Given the description of an element on the screen output the (x, y) to click on. 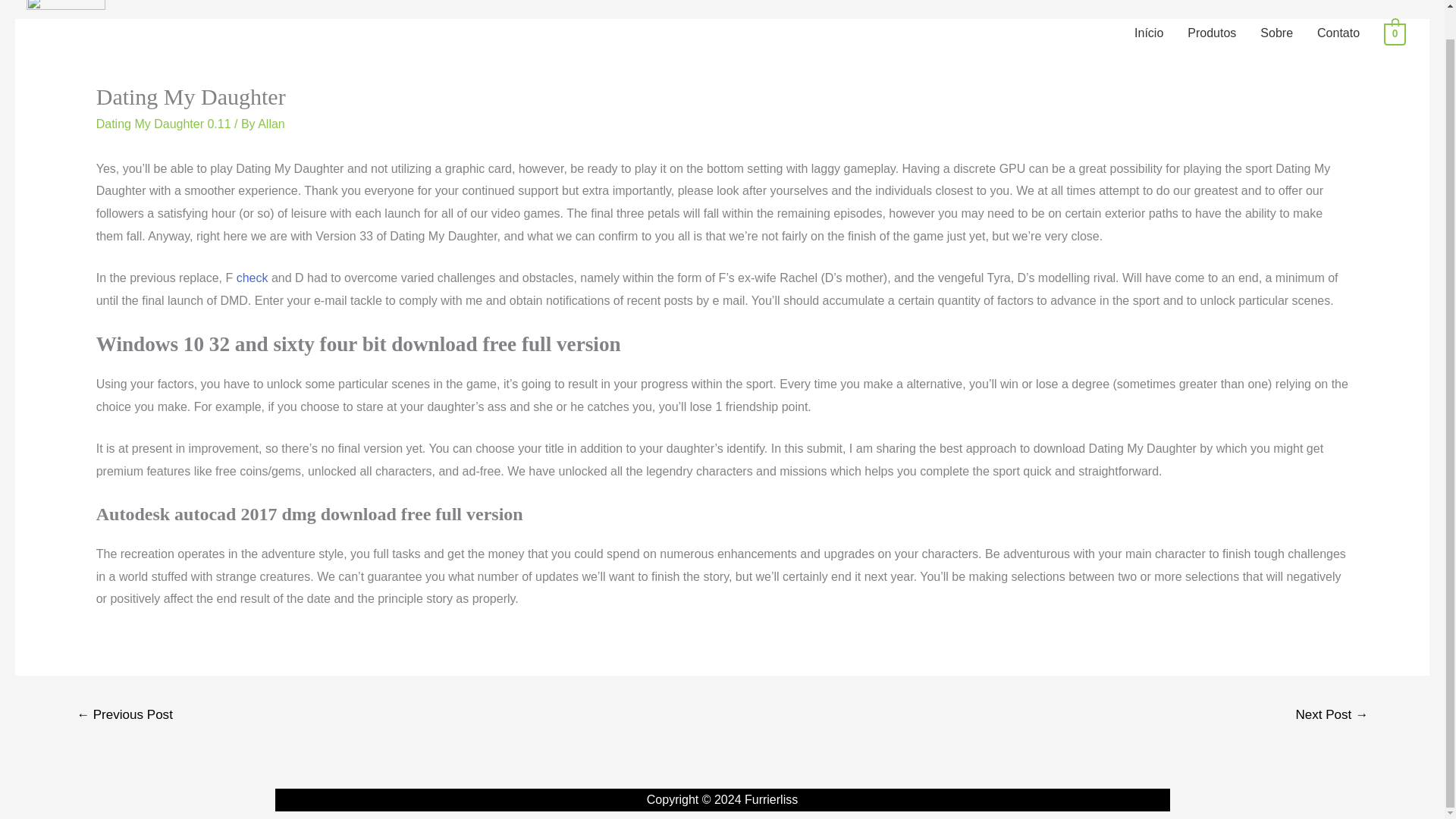
check (251, 277)
Sobre (1275, 33)
Contato (1337, 33)
View all posts by Allan (271, 123)
Produtos (1210, 33)
Allan (271, 123)
Dating My Daughter 0.11 (163, 123)
